Given the description of an element on the screen output the (x, y) to click on. 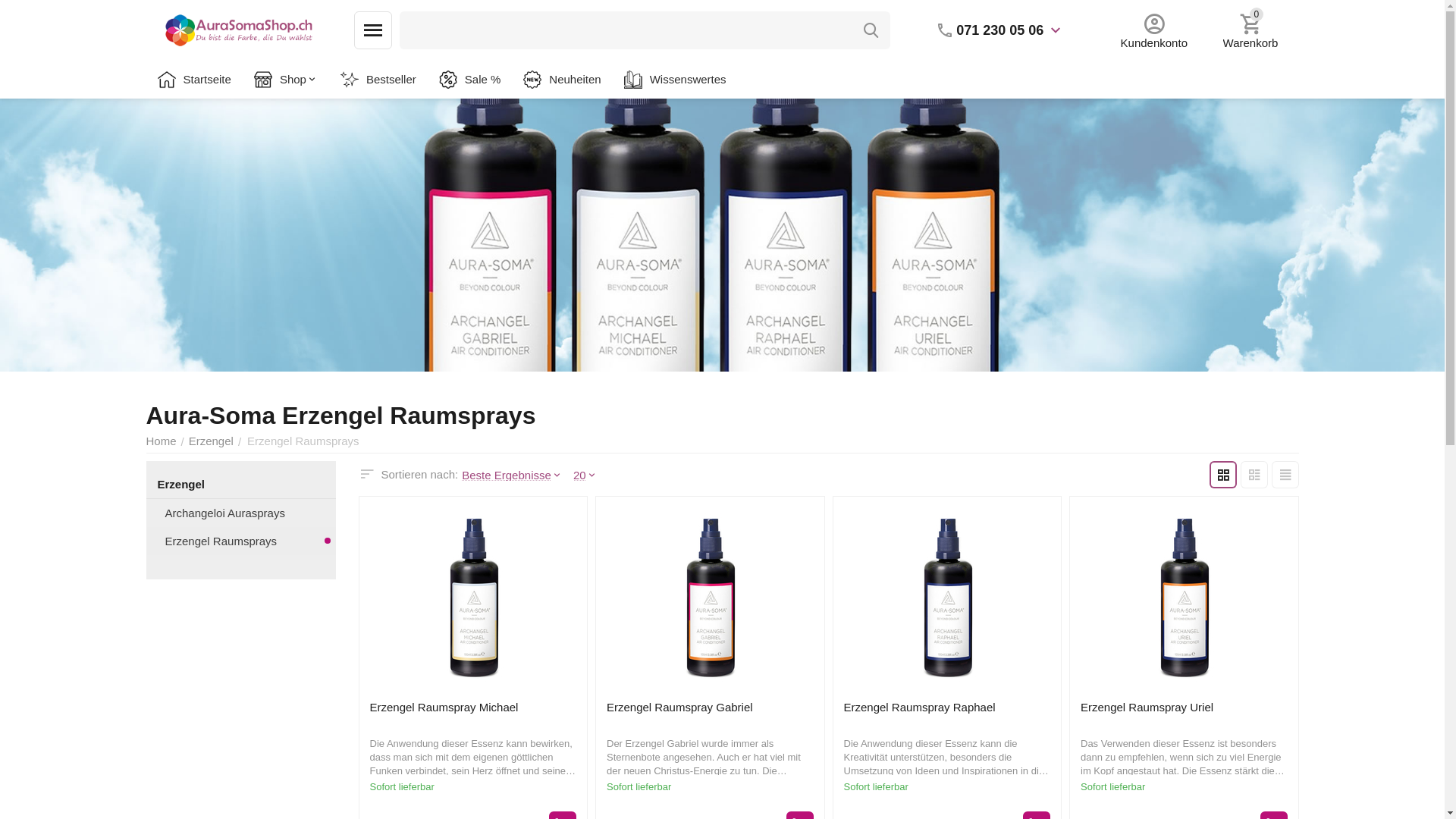
Sale % Element type: text (469, 79)
Erzengel Raumspray Gabriel Element type: text (679, 707)
Kundenkonto Element type: text (1153, 30)
Startseite Element type: text (193, 79)
Archangeloi Aurasprays Element type: text (240, 512)
Shop Element type: text (285, 79)
Neuheiten Element type: text (561, 79)
0
Warenkorb Element type: text (1249, 30)
071 230 05 06 Element type: text (999, 29)
Bestseller Element type: text (378, 79)
Home Element type: text (160, 440)
20 Element type: text (589, 474)
Wissenswertes Element type: text (674, 79)
Search Element type: hover (871, 30)
Beste Ergebnisse Element type: text (515, 474)
Erzengel Element type: text (236, 483)
Erzengel Raumspray Michael Element type: text (444, 707)
Erzengel Raumspray Uriel Element type: text (1146, 707)
Erzengel Raumspray Raphael Element type: text (918, 707)
Erzengel Element type: text (210, 440)
